Given the description of an element on the screen output the (x, y) to click on. 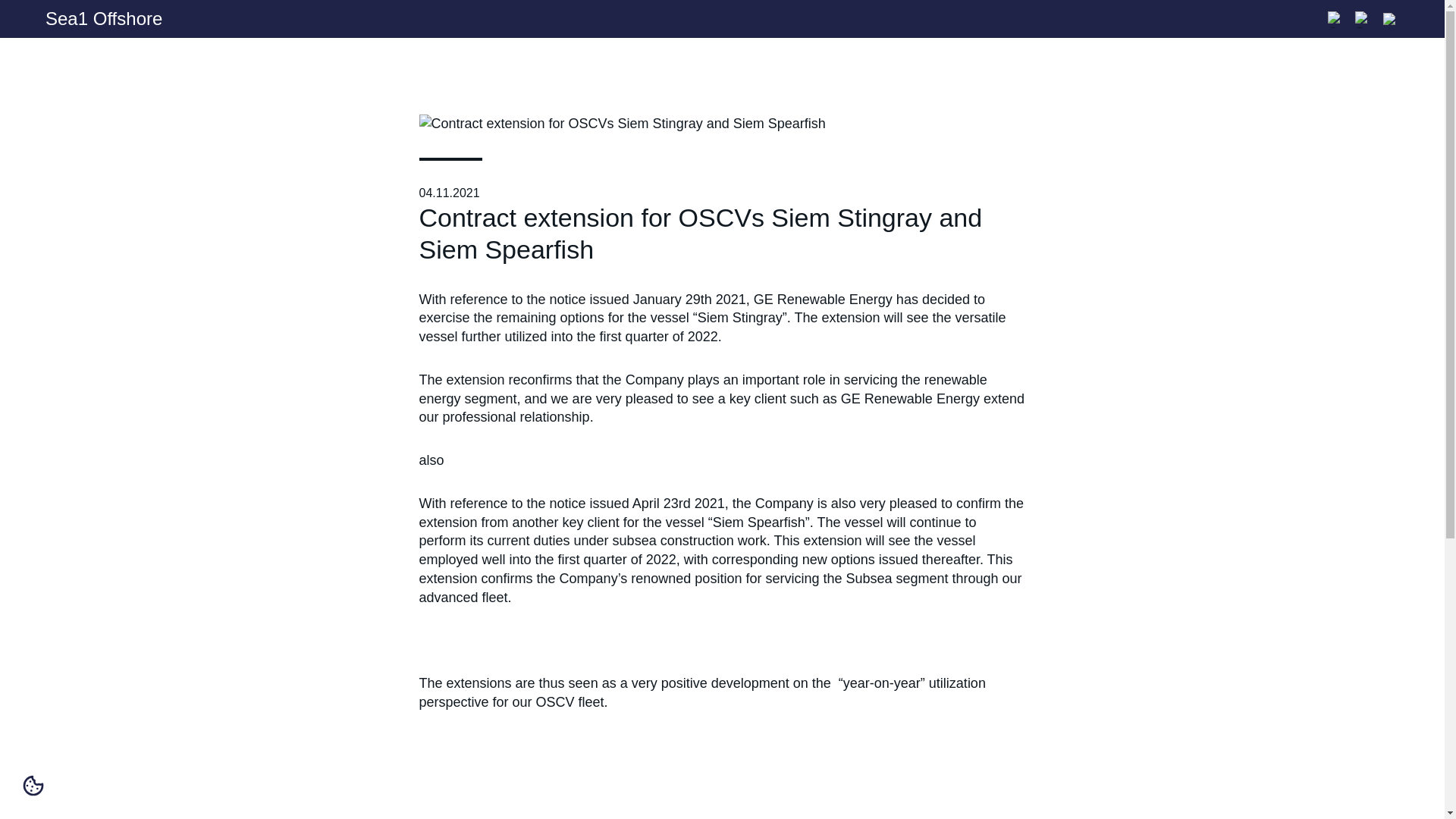
Sea1 Offshore (113, 19)
Cookie Preferences (32, 785)
